Given the description of an element on the screen output the (x, y) to click on. 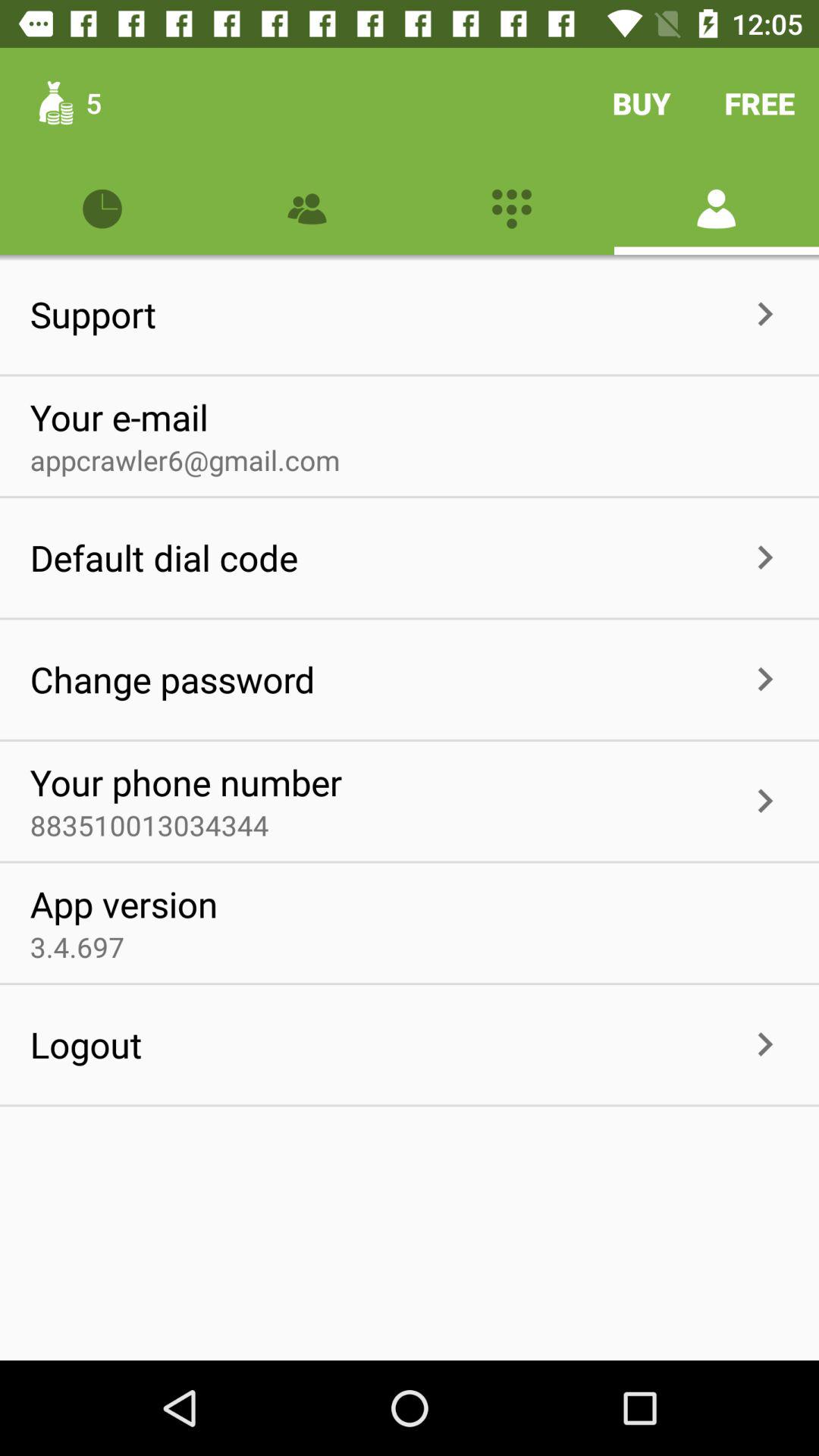
open icon above 883510013034344 item (185, 782)
